Given the description of an element on the screen output the (x, y) to click on. 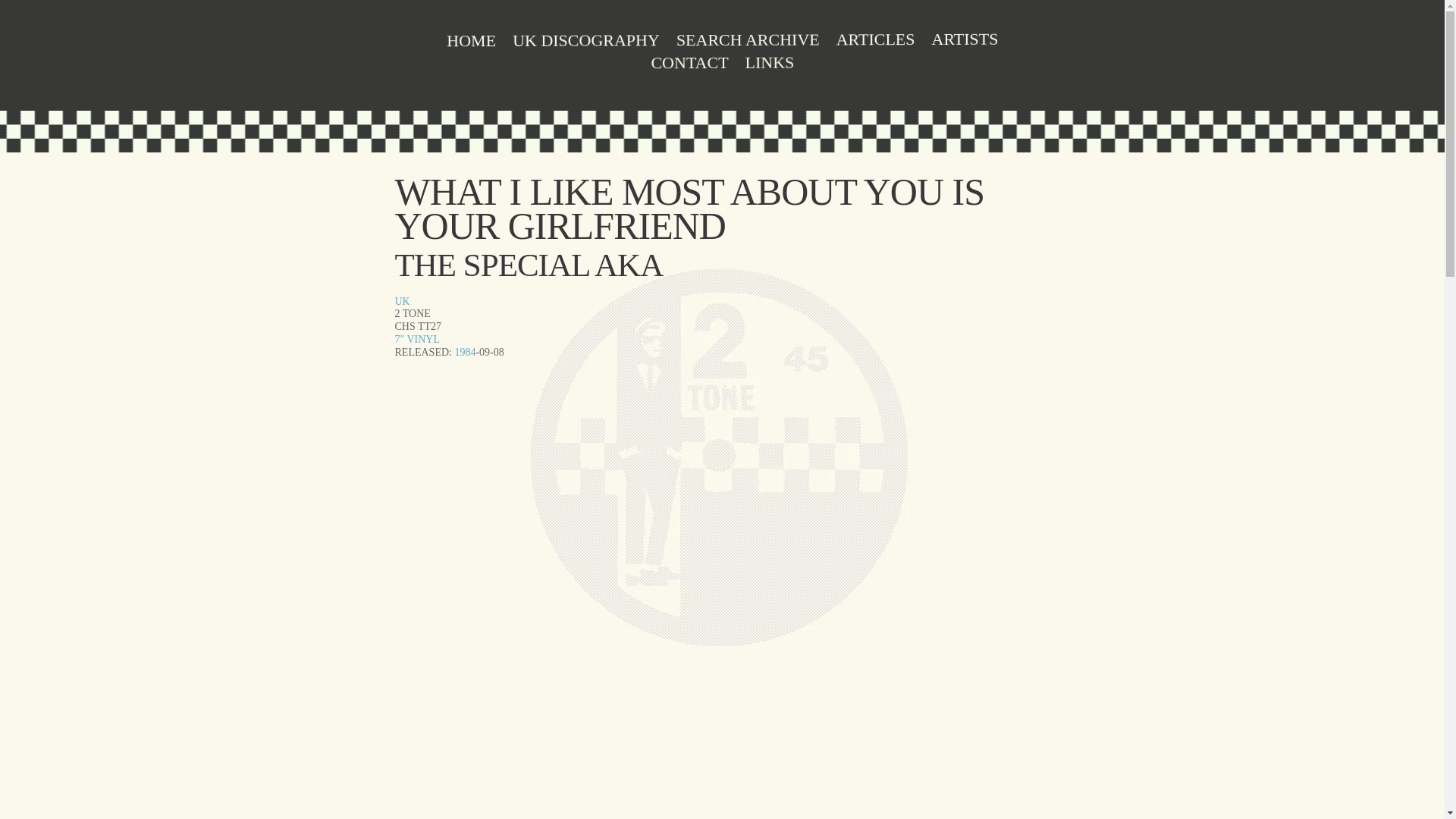
WHAT I LIKE MOST ABOUT YOU IS YOUR GIRLFRIEND (689, 208)
7" VINYL (416, 338)
ARTICLES (874, 42)
SEARCH ARCHIVE (746, 43)
UK DISCOGRAPHY (585, 43)
HOME (471, 44)
ARTISTS (964, 42)
LINKS (768, 65)
CONTACT (689, 65)
1984 (465, 351)
